Given the description of an element on the screen output the (x, y) to click on. 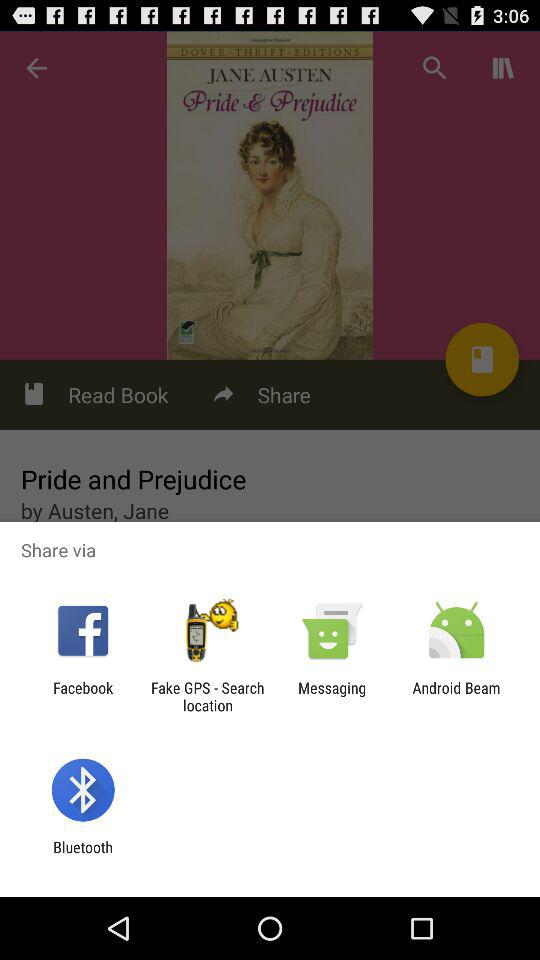
turn off the item next to android beam (332, 696)
